Given the description of an element on the screen output the (x, y) to click on. 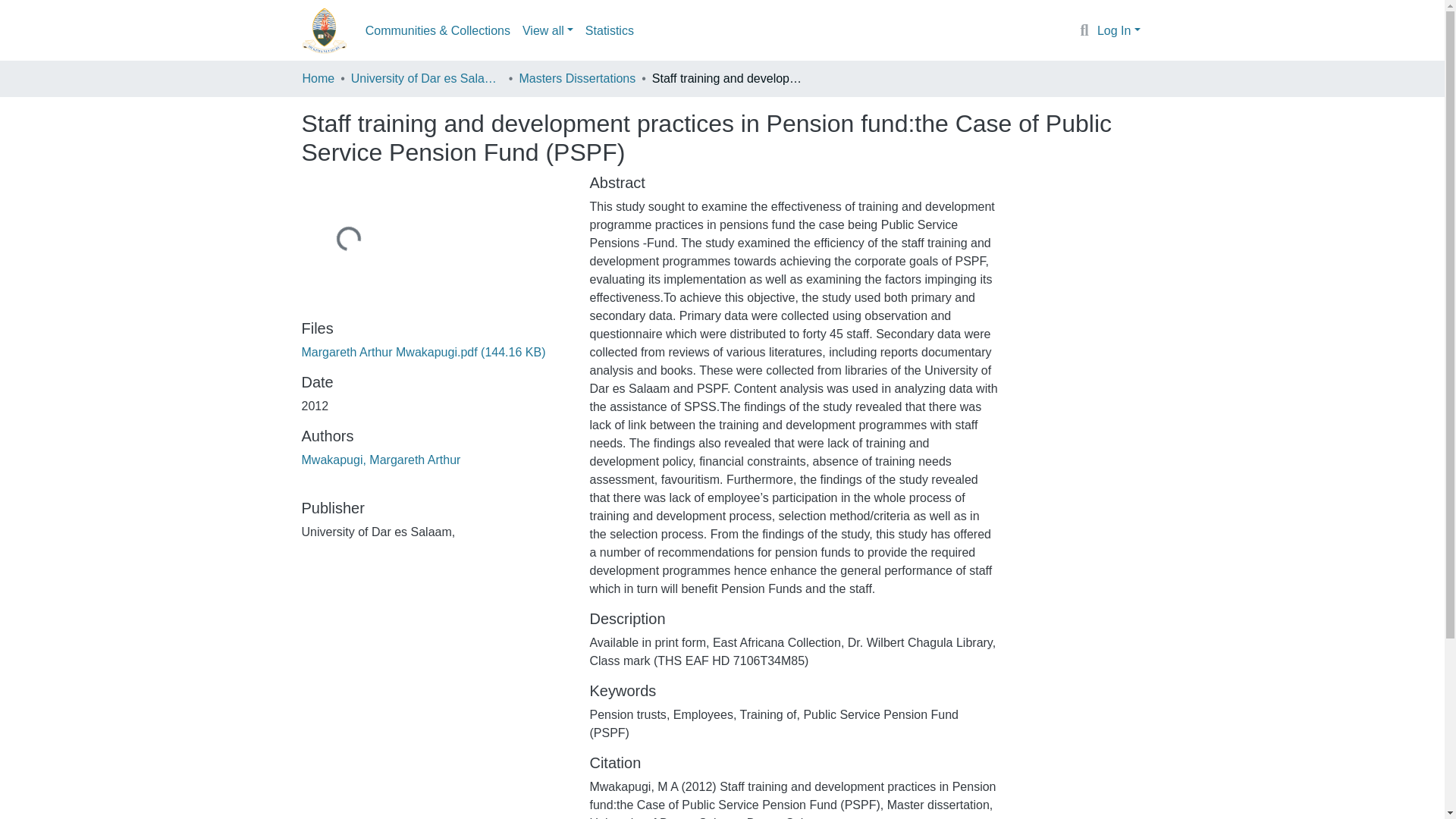
Statistics (609, 30)
Statistics (609, 30)
Mwakapugi, Margareth Arthur (381, 459)
Log In (1118, 30)
Home (317, 78)
Masters Dissertations (576, 78)
Search (1084, 30)
University of Dar es Salaam Business School (426, 78)
View all (547, 30)
